Given the description of an element on the screen output the (x, y) to click on. 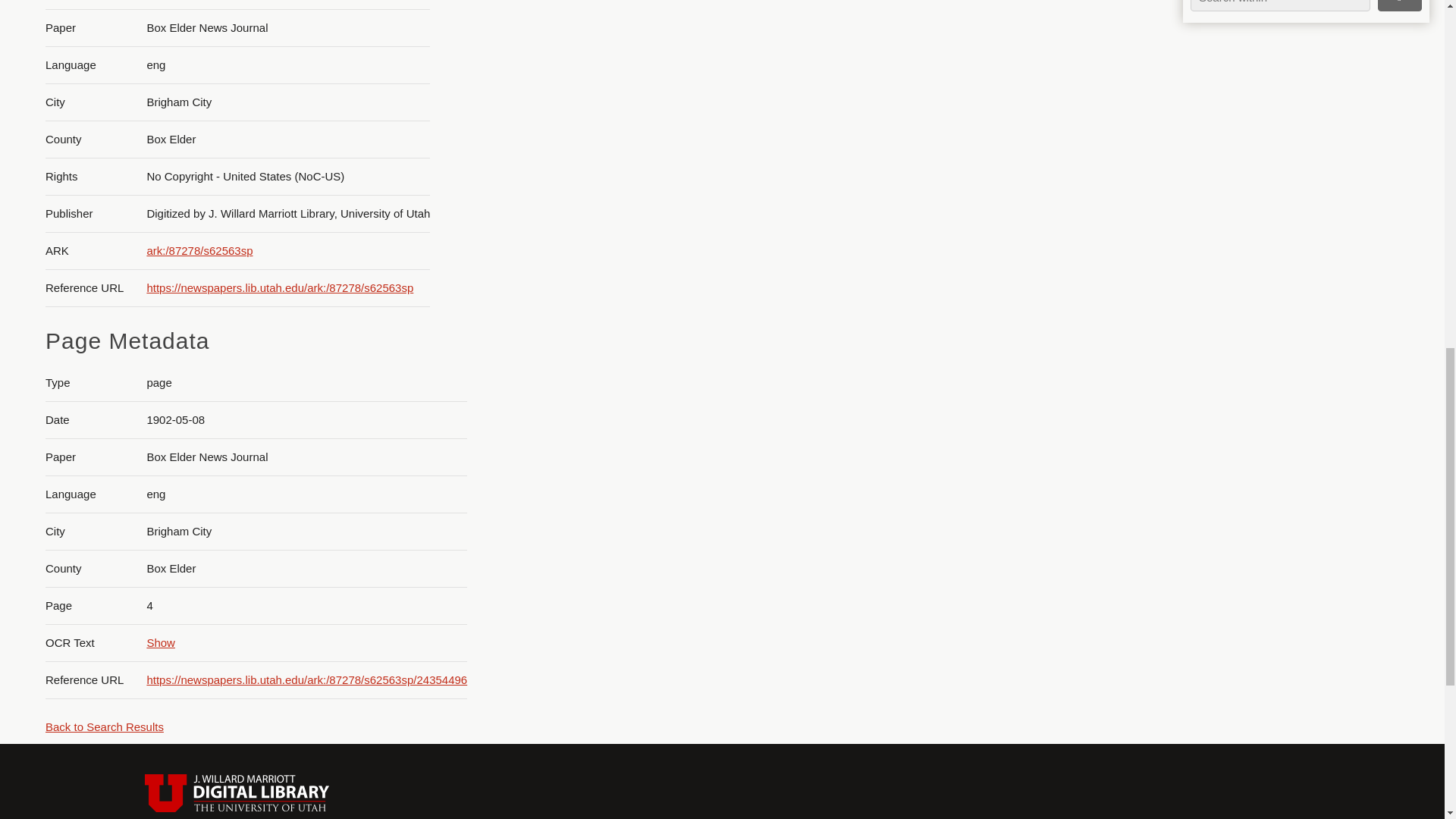
Back to Search Results (104, 726)
Show (160, 642)
Page 8 (1299, 264)
Page 6 (1299, 44)
Page 7 (1299, 148)
